Given the description of an element on the screen output the (x, y) to click on. 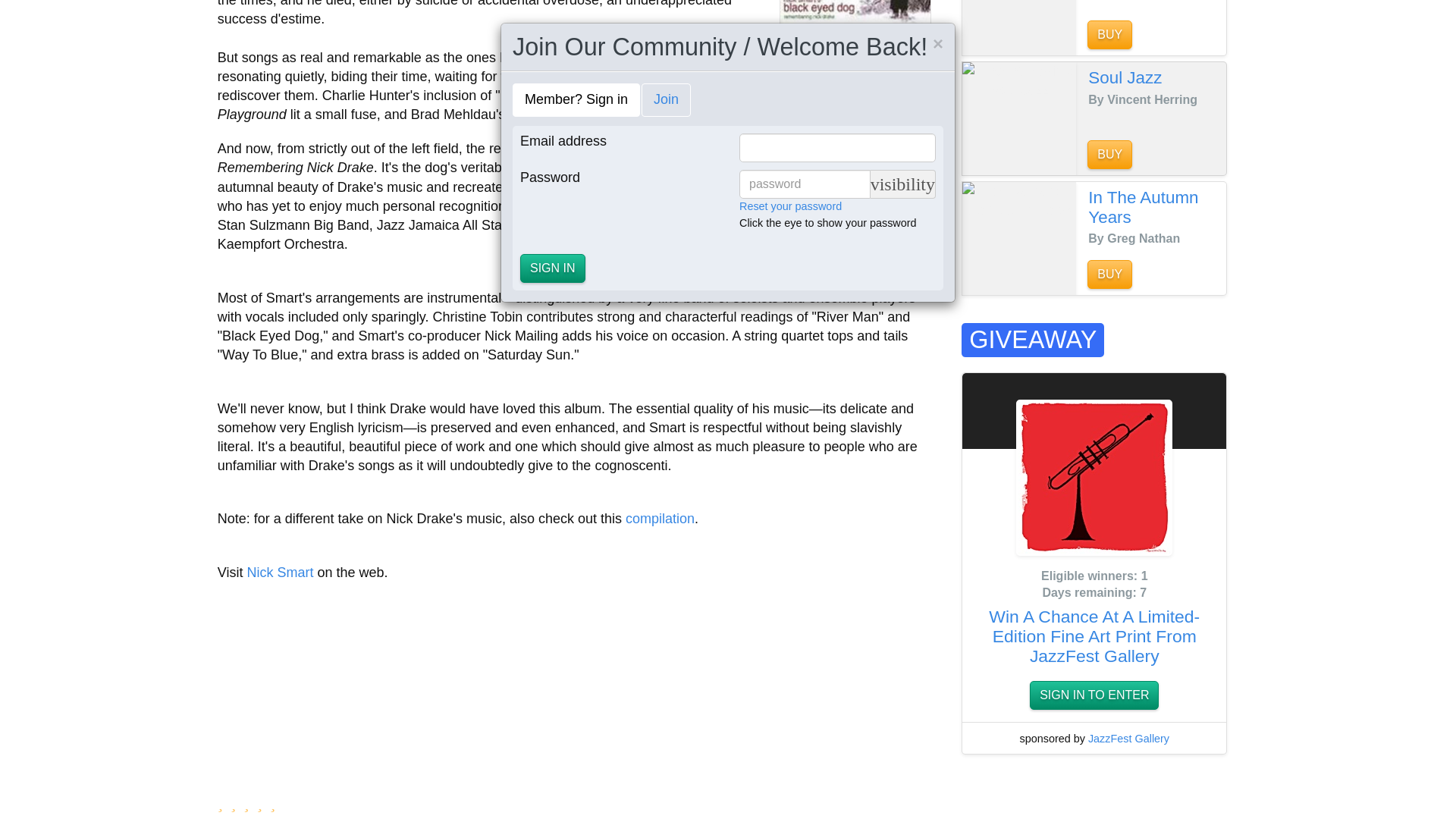
View Remembering Nick Drake at All About Jazz (854, 13)
Nick Smart's Black Eyed Dog: Remembering Nick Drake (855, 13)
